Given the description of an element on the screen output the (x, y) to click on. 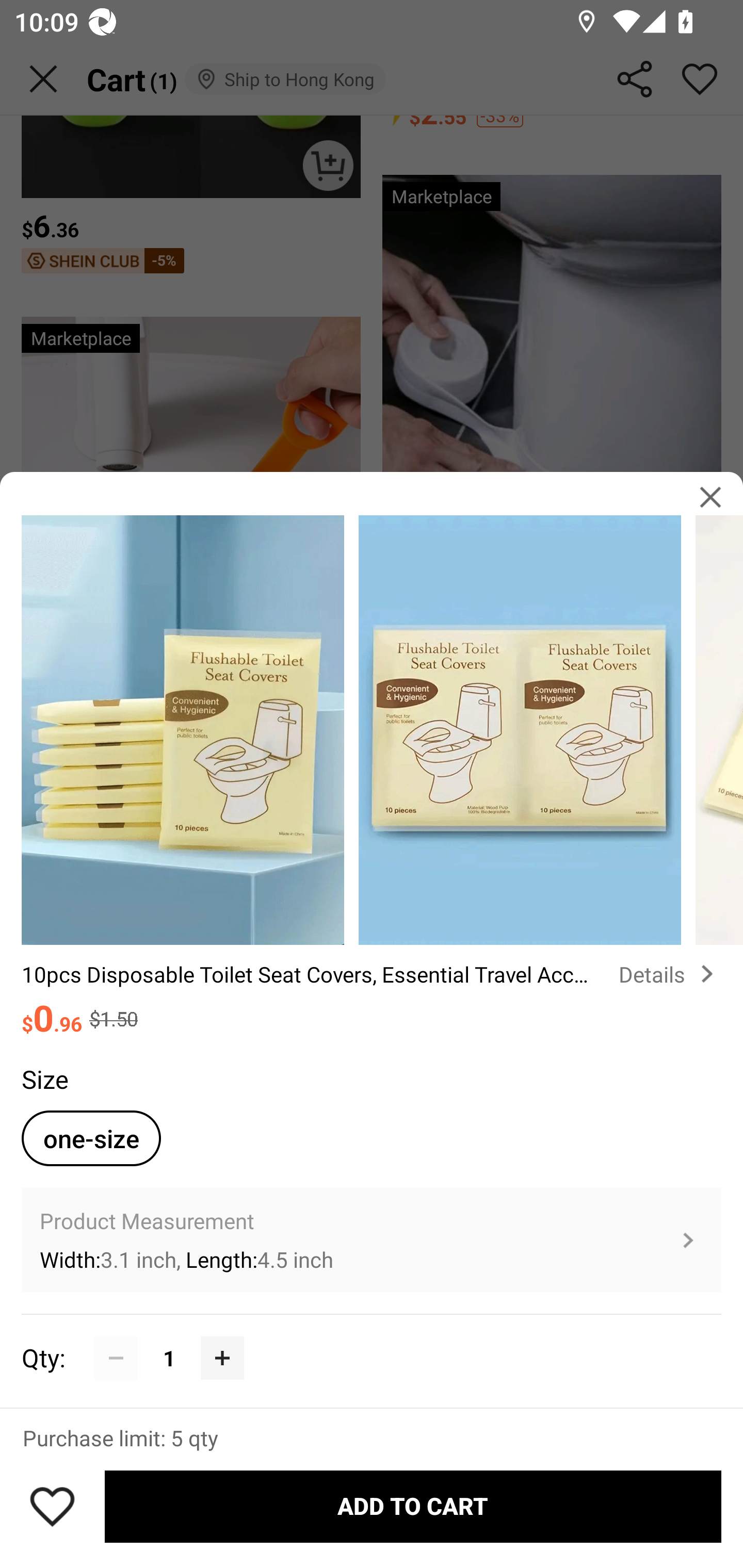
Details (669, 974)
Size (44, 1078)
one-size one-sizeselected option (91, 1138)
ADD TO CART (412, 1506)
Save (52, 1505)
